Given the description of an element on the screen output the (x, y) to click on. 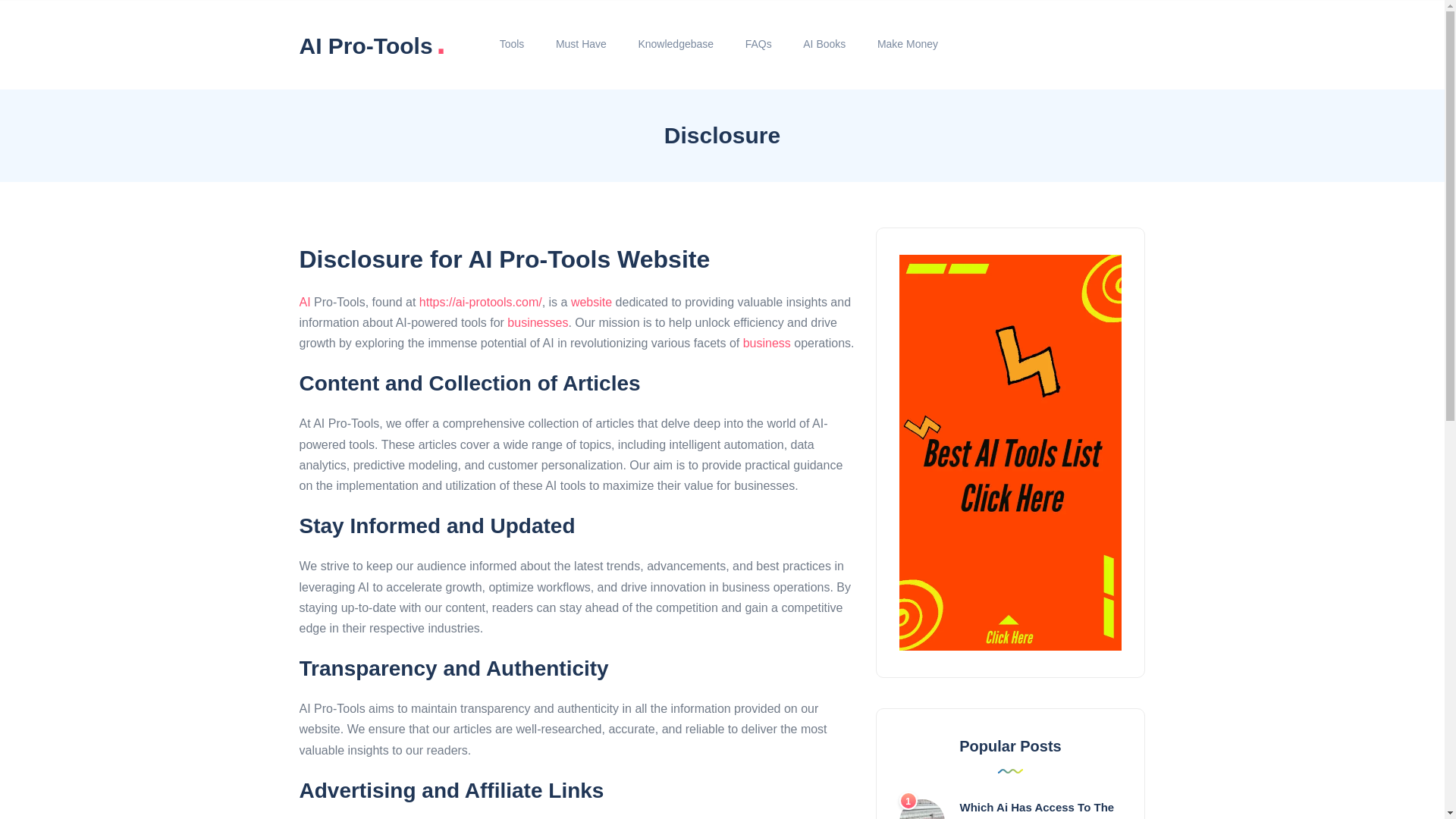
Must Have (581, 44)
Make Money (907, 44)
Tools (511, 44)
businesses (536, 322)
business (766, 342)
Knowledgebase (676, 44)
AI Books (824, 44)
Which Ai Has Access To The Internet? (1037, 809)
AI Pro-Tools. (371, 44)
website (590, 301)
